Given the description of an element on the screen output the (x, y) to click on. 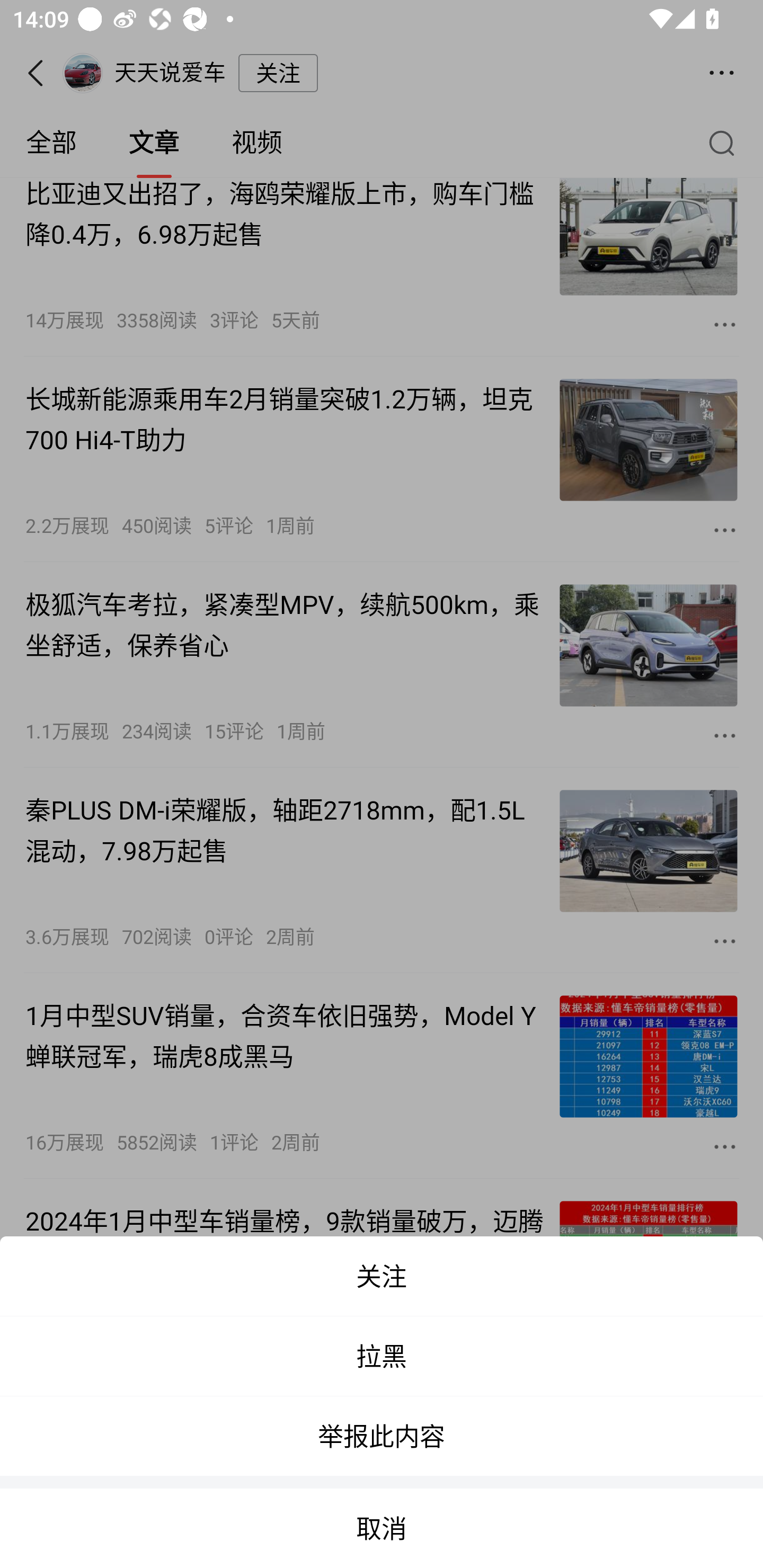
关注 (381, 1276)
拉黑 (381, 1356)
举报此内容 (381, 1436)
取消 (381, 1528)
